Given the description of an element on the screen output the (x, y) to click on. 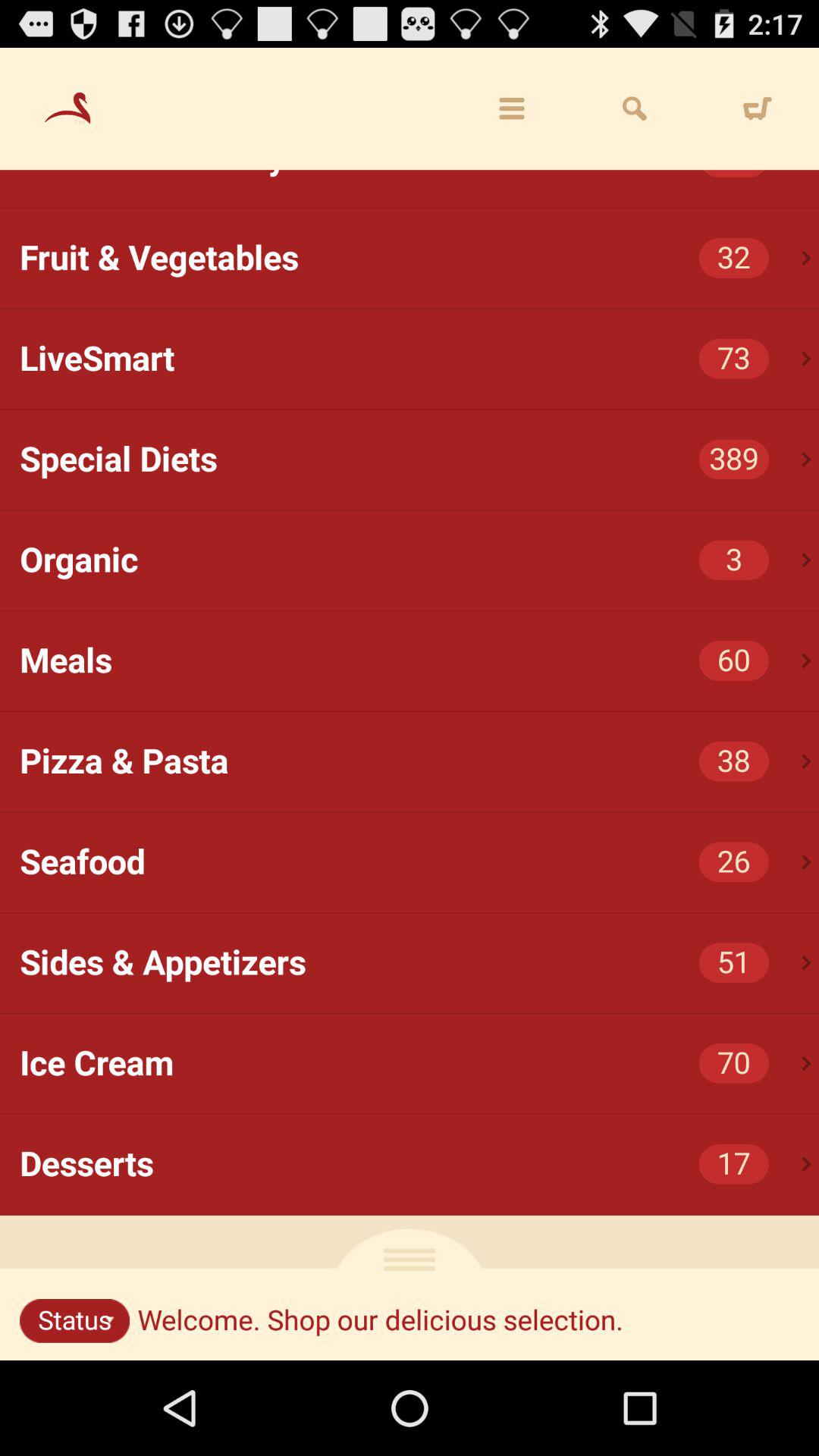
jump to the pizza & pasta icon (419, 761)
